Given the description of an element on the screen output the (x, y) to click on. 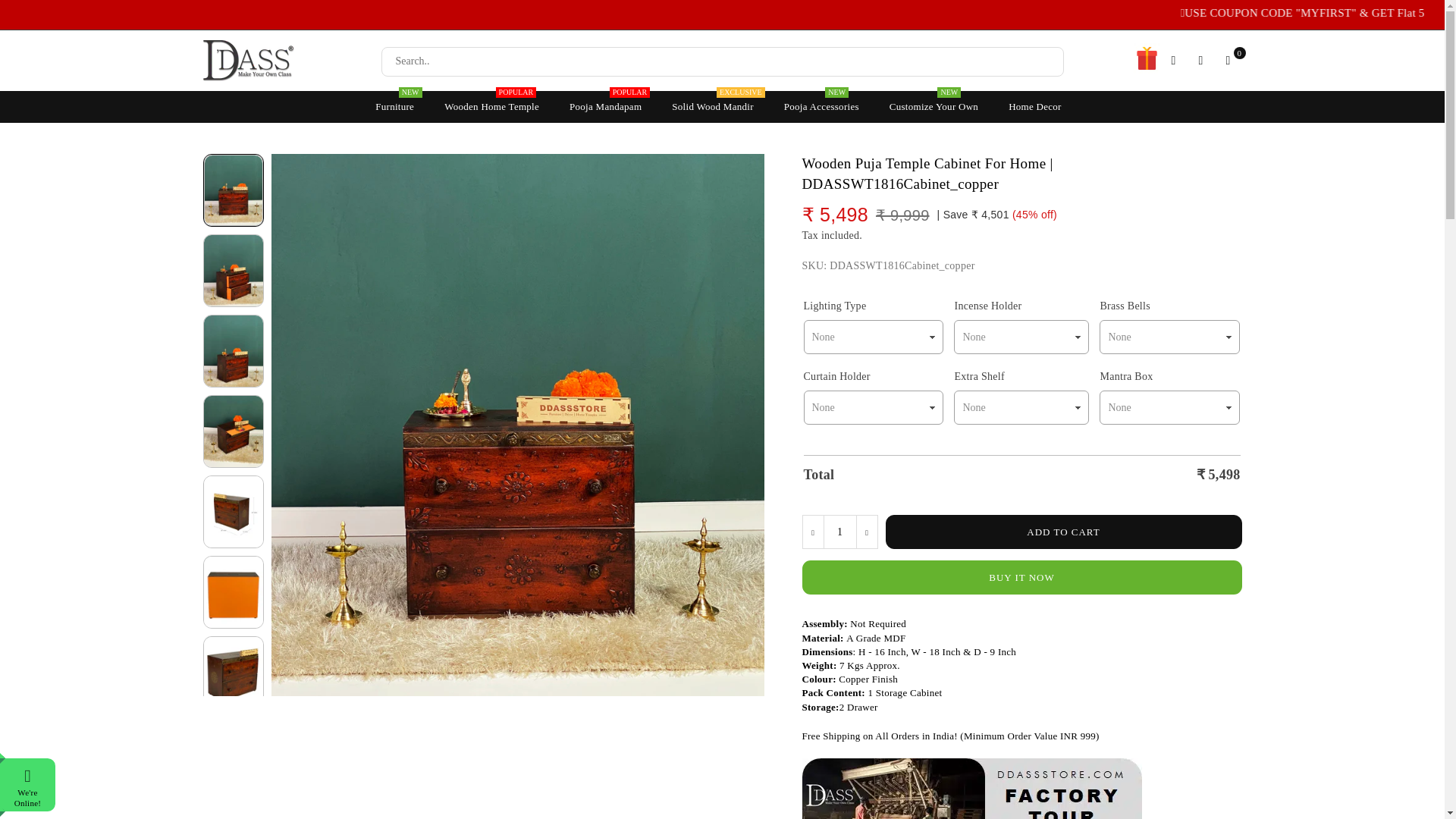
1 (394, 106)
Quantity (491, 106)
Settings (840, 531)
0 (839, 531)
Cart (1174, 60)
Search (1227, 60)
Wishlist (1227, 60)
